Given the description of an element on the screen output the (x, y) to click on. 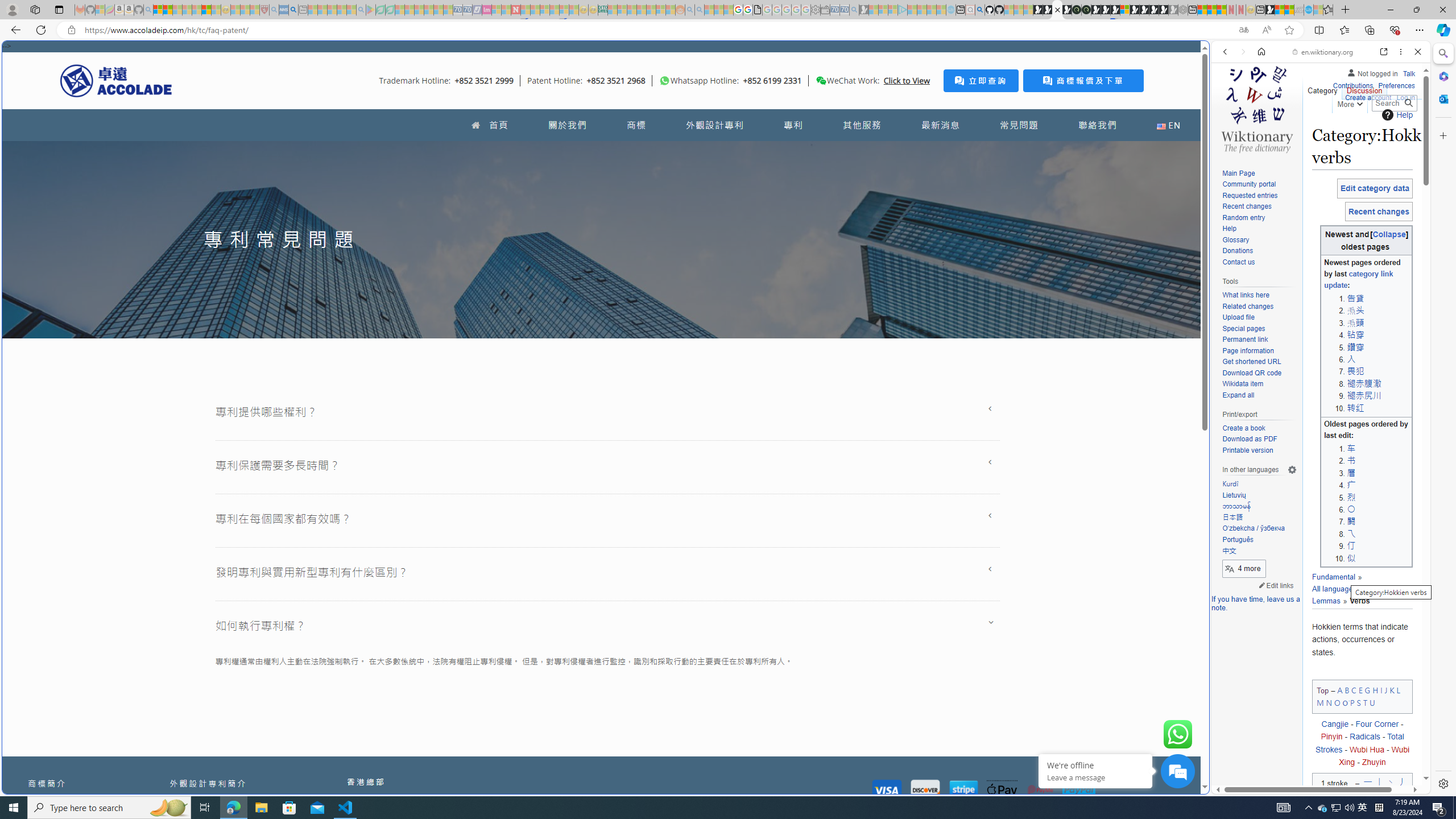
Printable version (1259, 450)
Language settings (1292, 470)
M (1319, 701)
Printable version (1247, 449)
